Given the description of an element on the screen output the (x, y) to click on. 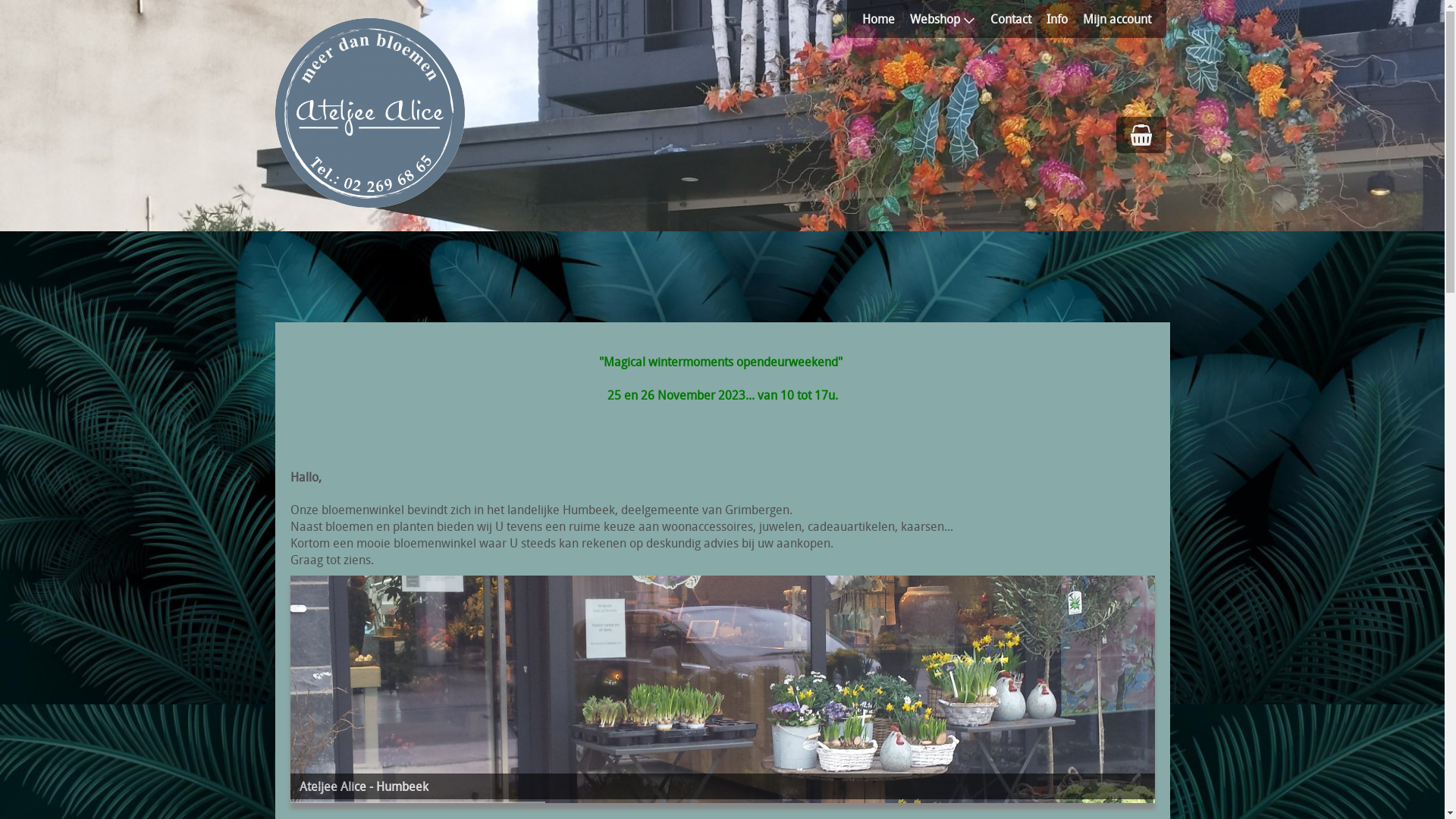
Webshop Element type: text (950, 18)
Home Element type: text (885, 18)
Info Element type: text (1064, 18)
Contact Element type: text (1018, 18)
Mijn account Element type: text (1124, 18)
